Given the description of an element on the screen output the (x, y) to click on. 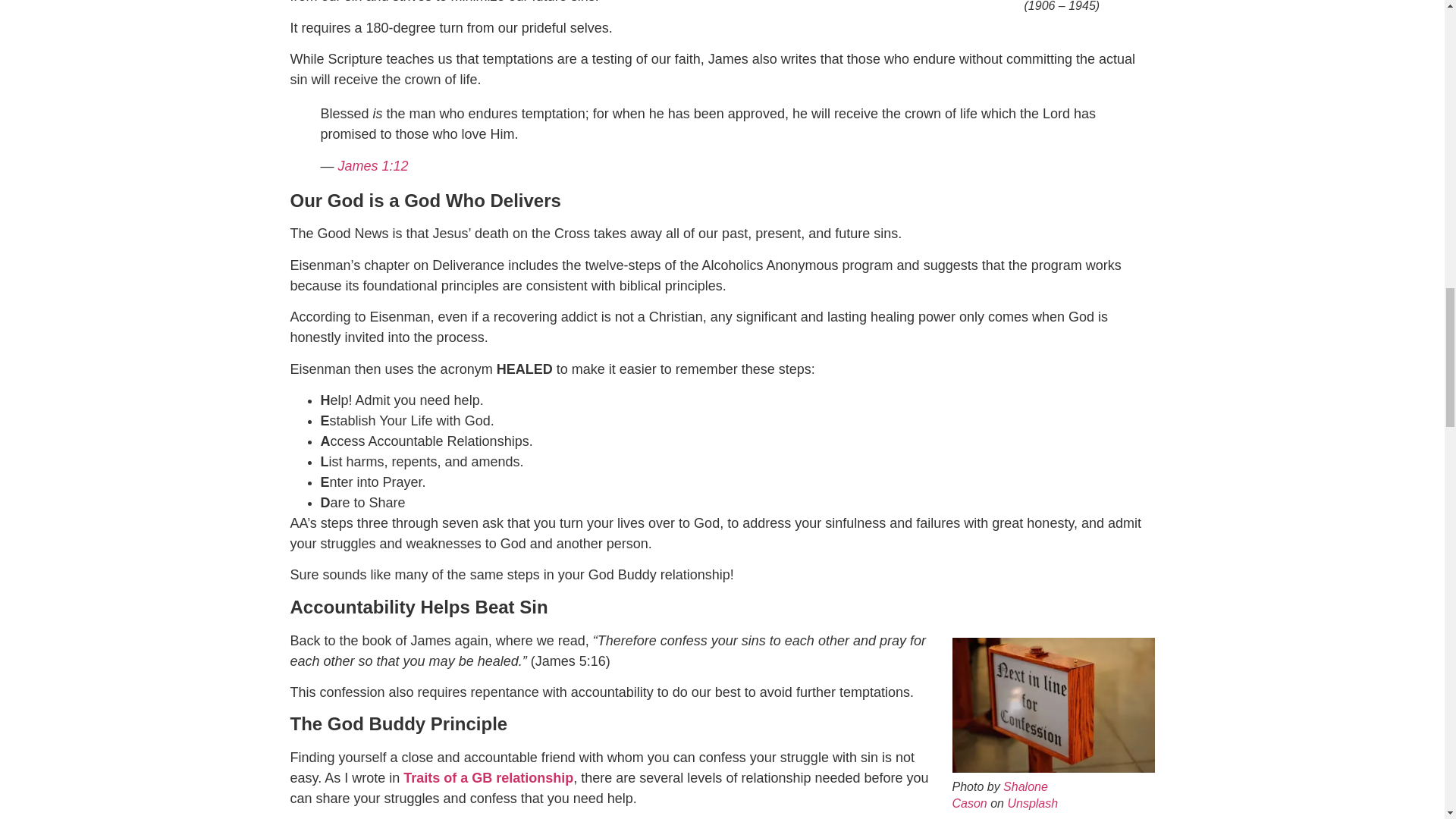
Shalone Cason (1000, 794)
Unsplash (1032, 802)
Traits of a GB relationship (488, 777)
James 1:12 (373, 165)
